Given the description of an element on the screen output the (x, y) to click on. 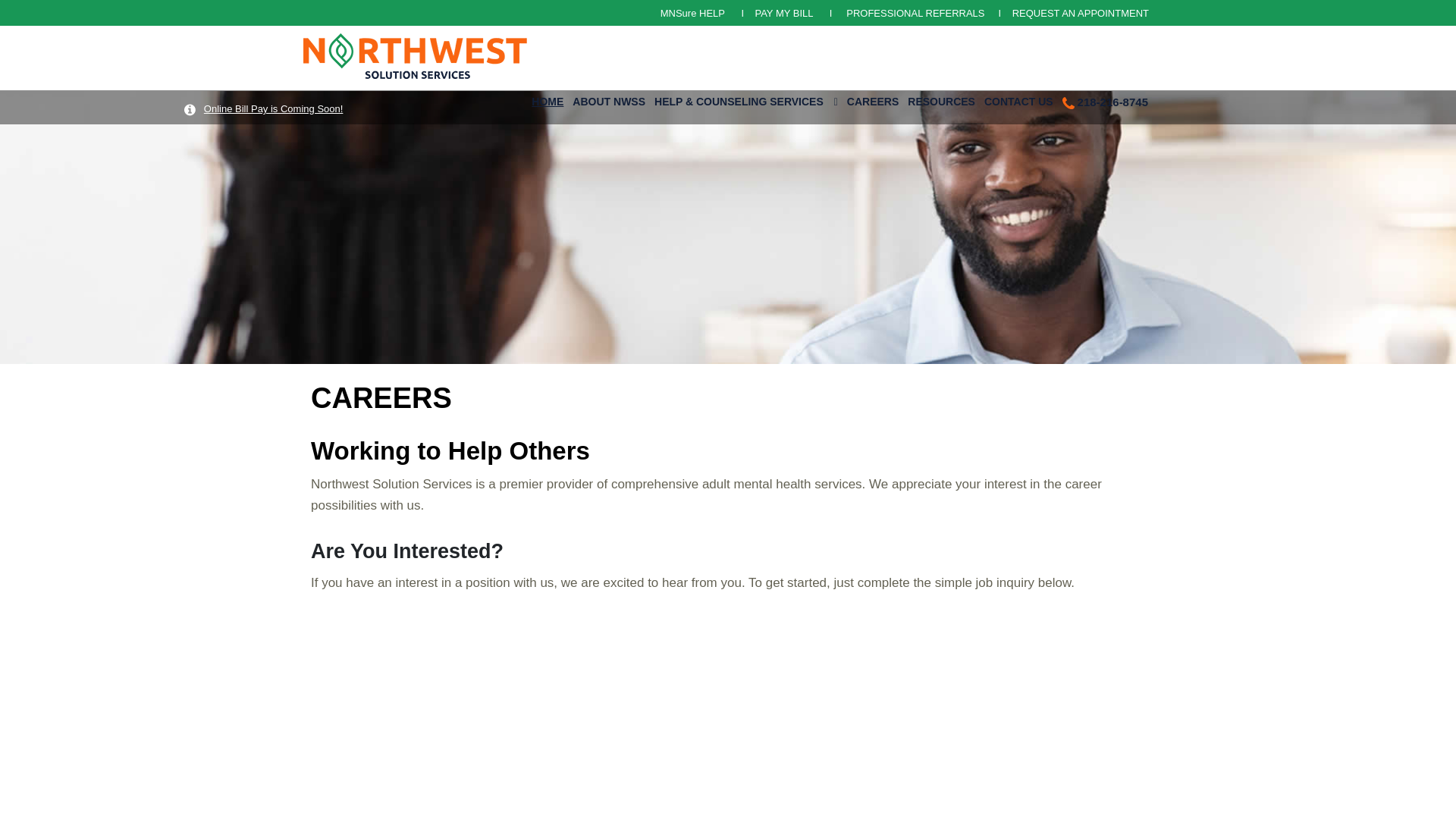
CAREERS (872, 99)
    I    REQUEST AN APPOINTMENT (1067, 12)
218-216-8745 (1105, 100)
MNSure HELP      I     (708, 12)
Online Bill Pay is Coming Soon! (273, 108)
RESOURCES (940, 99)
PAY MY BILL      I     (798, 12)
CONTACT US (1018, 99)
PROFESSIONAL REFERRALS (916, 12)
ABOUT NWSS (608, 99)
HOME (547, 99)
